Given the description of an element on the screen output the (x, y) to click on. 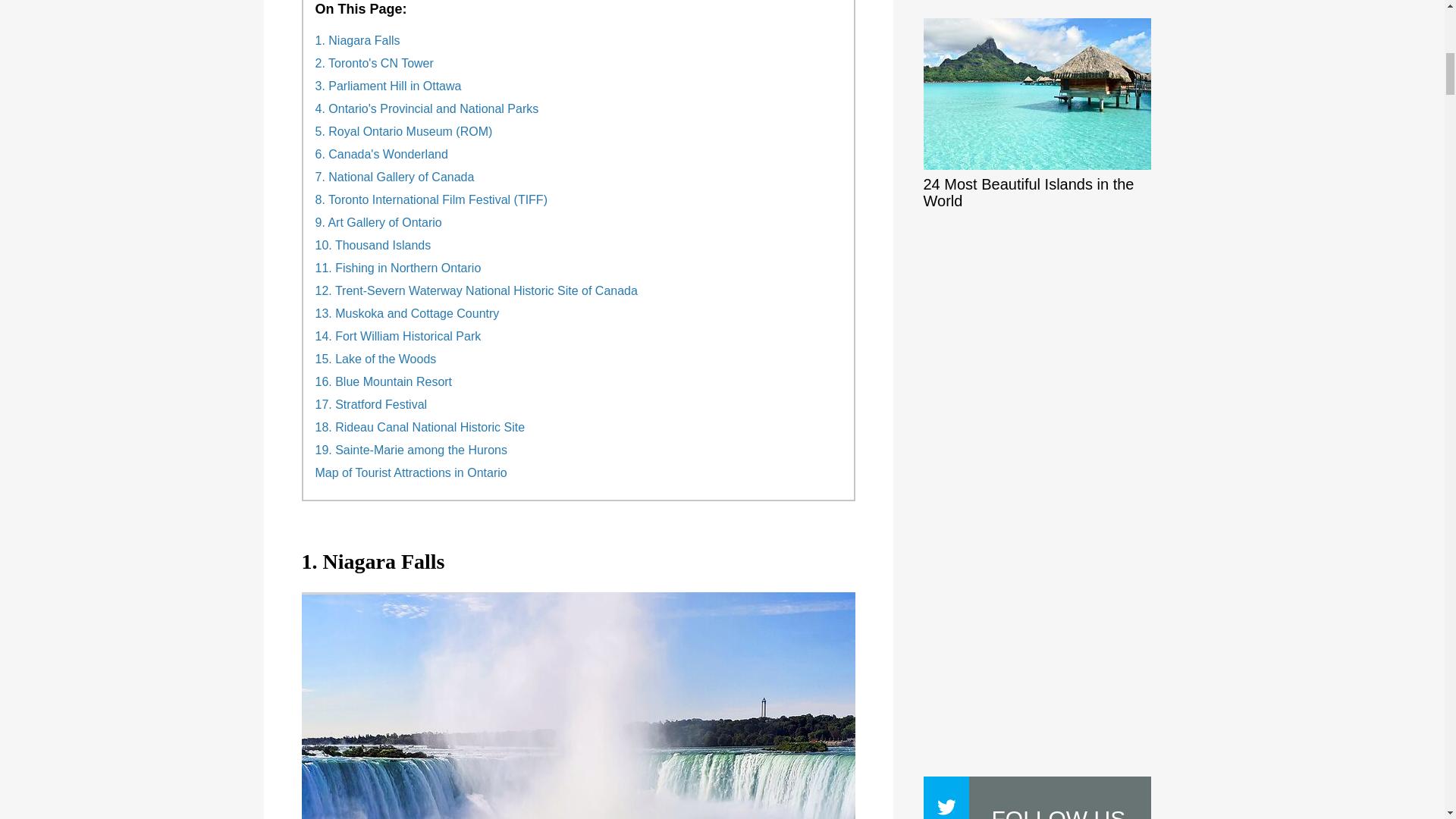
11. Fishing in Northern Ontario (398, 268)
19. Sainte-Marie among the Hurons (410, 450)
1. Niagara Falls (357, 40)
18. Rideau Canal National Historic Site (420, 427)
3. Parliament Hill in Ottawa (388, 86)
16. Blue Mountain Resort (383, 382)
2. Toronto's CN Tower (374, 63)
12. Trent-Severn Waterway National Historic Site of Canada (476, 291)
15. Lake of the Woods (375, 359)
17. Stratford Festival (371, 404)
